Given the description of an element on the screen output the (x, y) to click on. 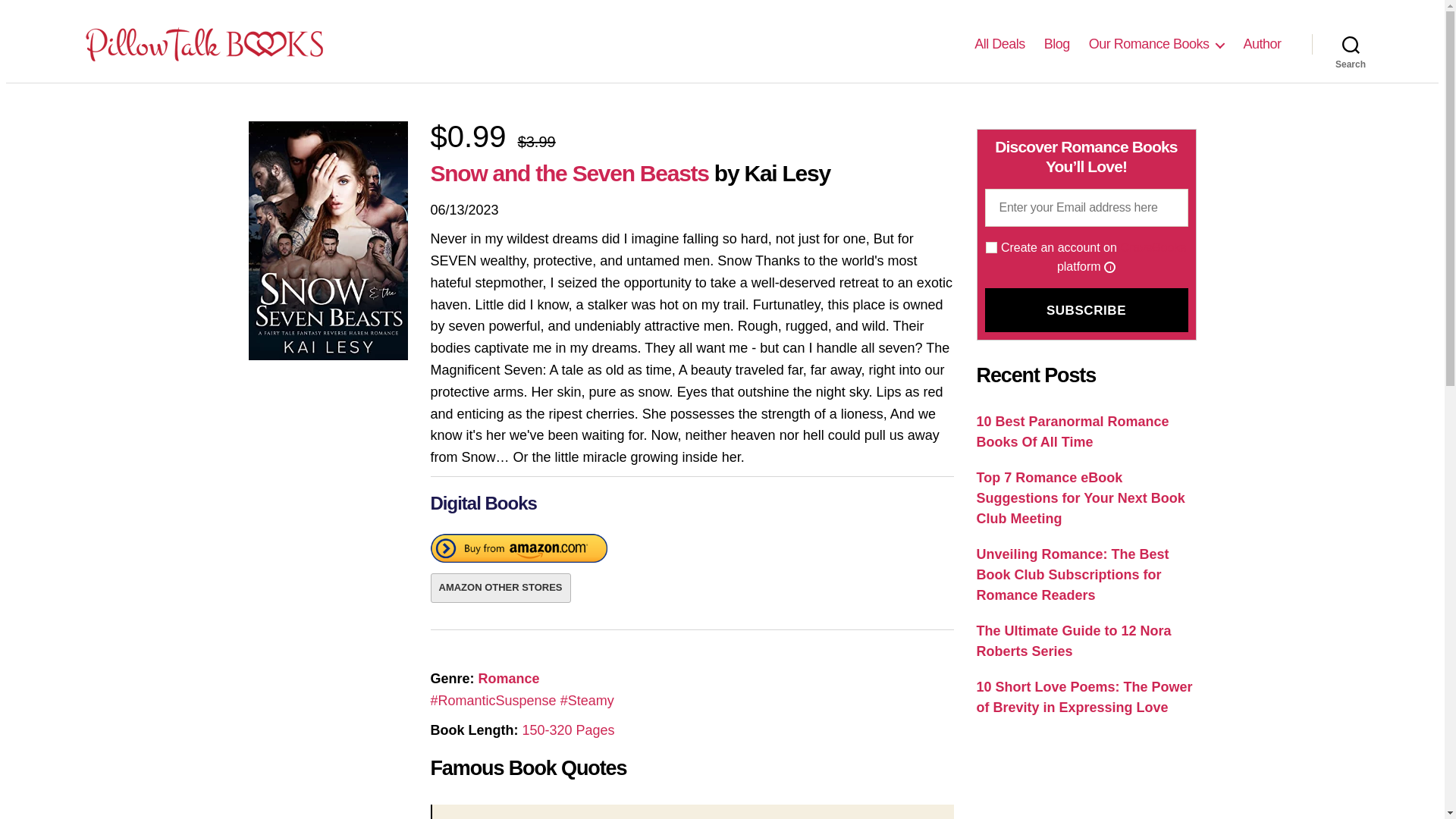
Author (1262, 44)
true (991, 247)
All Deals (999, 44)
Our Romance Books (1156, 44)
Subscribe (1086, 310)
Blog (1056, 44)
Advertisement (1086, 780)
Search (1350, 43)
Amazon (518, 551)
